Given the description of an element on the screen output the (x, y) to click on. 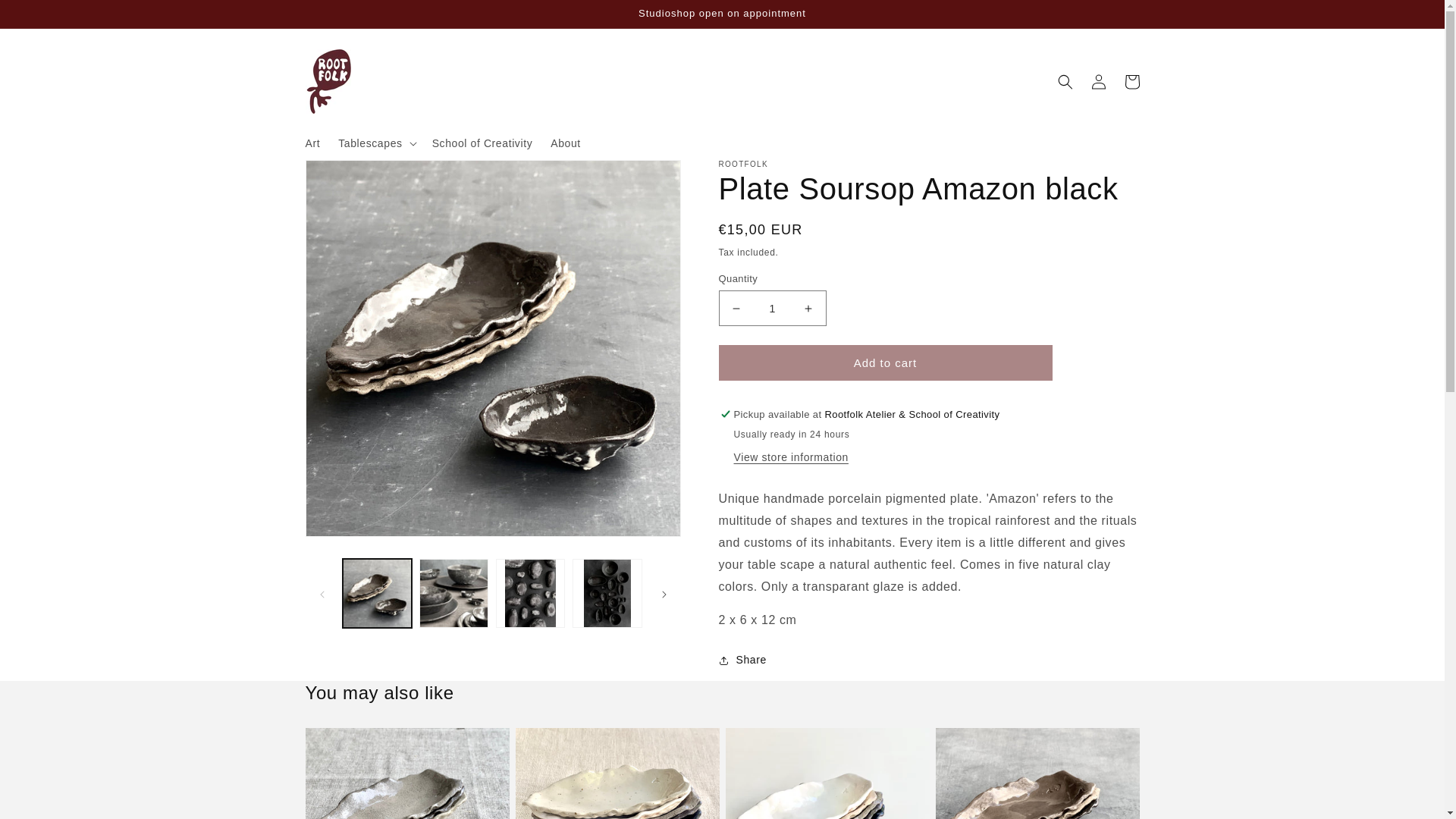
1 (773, 307)
Skip to content (45, 17)
Art (312, 142)
